Given the description of an element on the screen output the (x, y) to click on. 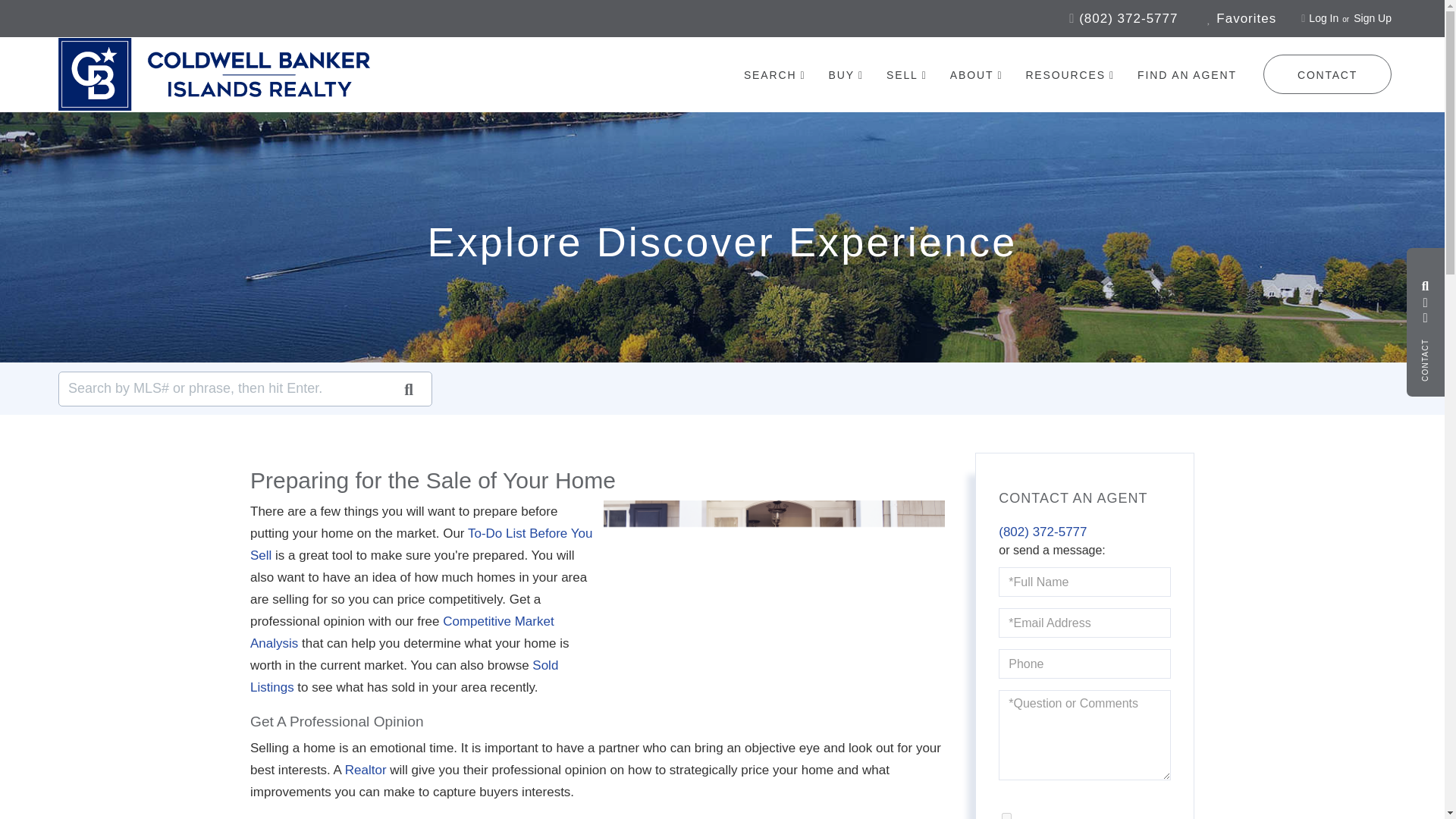
Log In (1323, 18)
RESOURCES (1070, 75)
BUY (845, 75)
Sign Up (1372, 18)
FIND AN AGENT (1186, 74)
Favorites (1241, 18)
SELL (906, 75)
SEARCH (775, 75)
ABOUT (976, 75)
CONTACT (1327, 74)
